Given the description of an element on the screen output the (x, y) to click on. 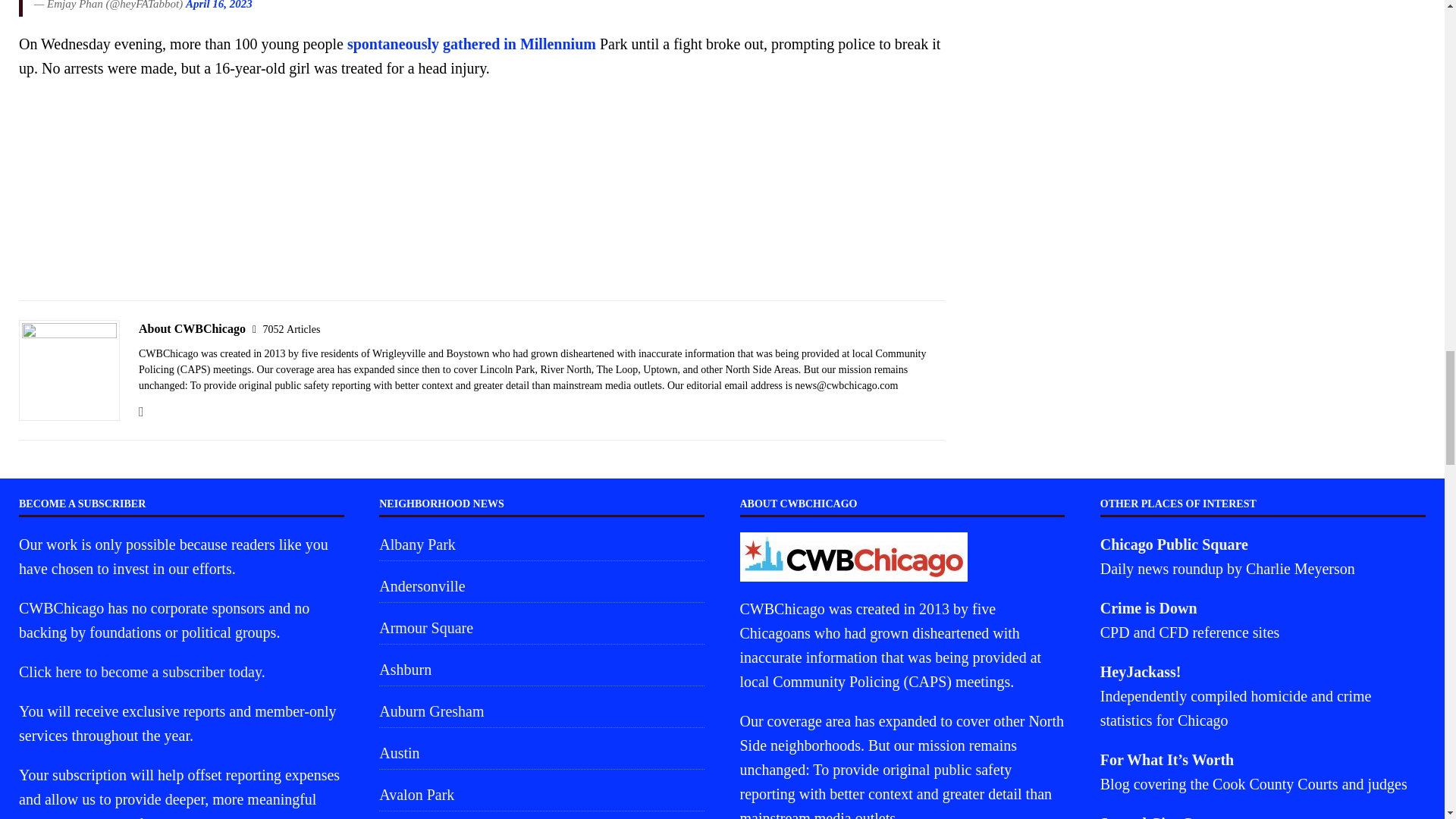
Ashburn (541, 669)
Austin (541, 753)
7052 Articles (291, 328)
April 16, 2023 (218, 4)
Armour Square (541, 627)
spontaneously gathered in Millennium (471, 44)
Andersonville (541, 585)
Auburn Gresham (541, 711)
More articles written by CWBChicago' (291, 328)
Click here to become a subscriber today. (141, 671)
